Given the description of an element on the screen output the (x, y) to click on. 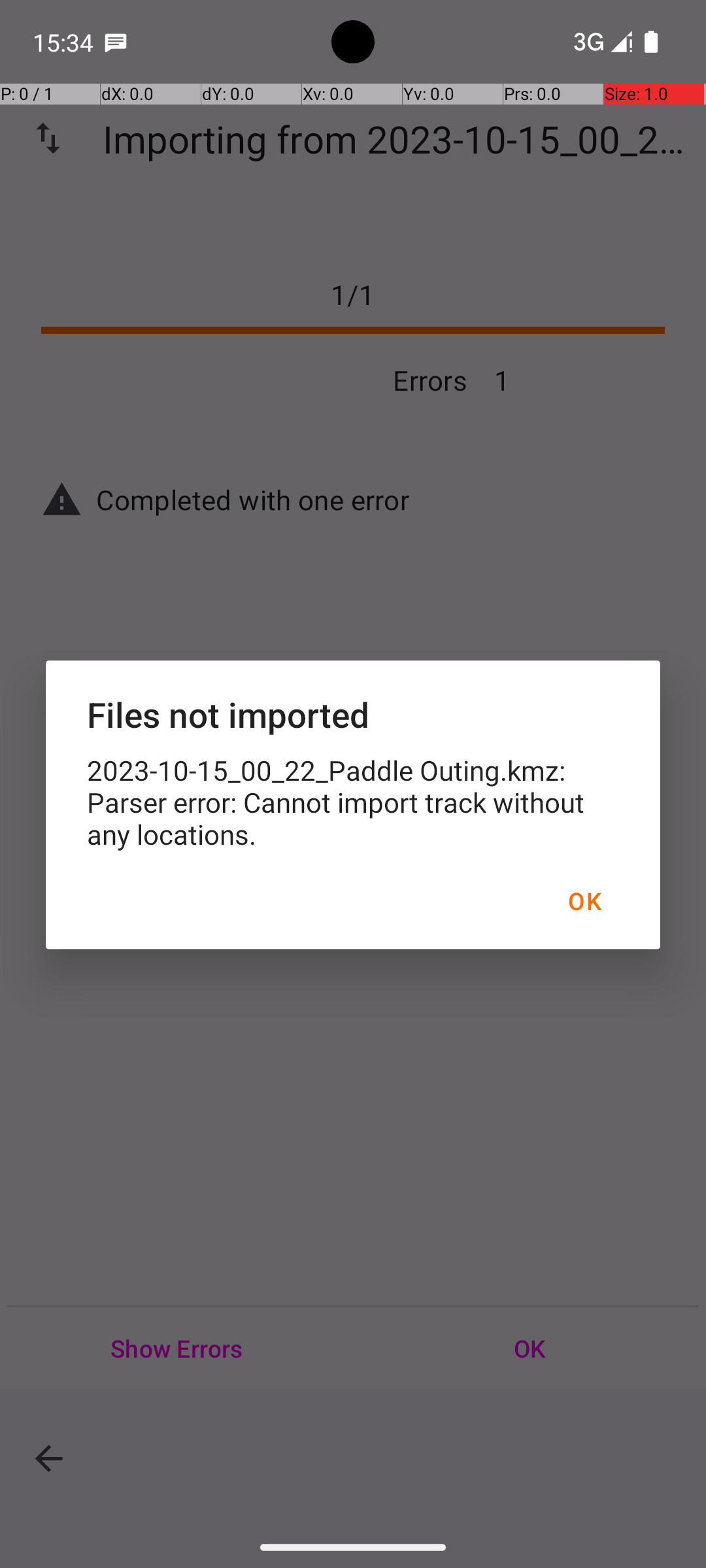
Files not imported Element type: android.widget.TextView (352, 714)
2023-10-15_00_22_Paddle Outing.kmz: Parser error: Cannot import track without any locations. Element type: android.widget.TextView (352, 801)
